Given the description of an element on the screen output the (x, y) to click on. 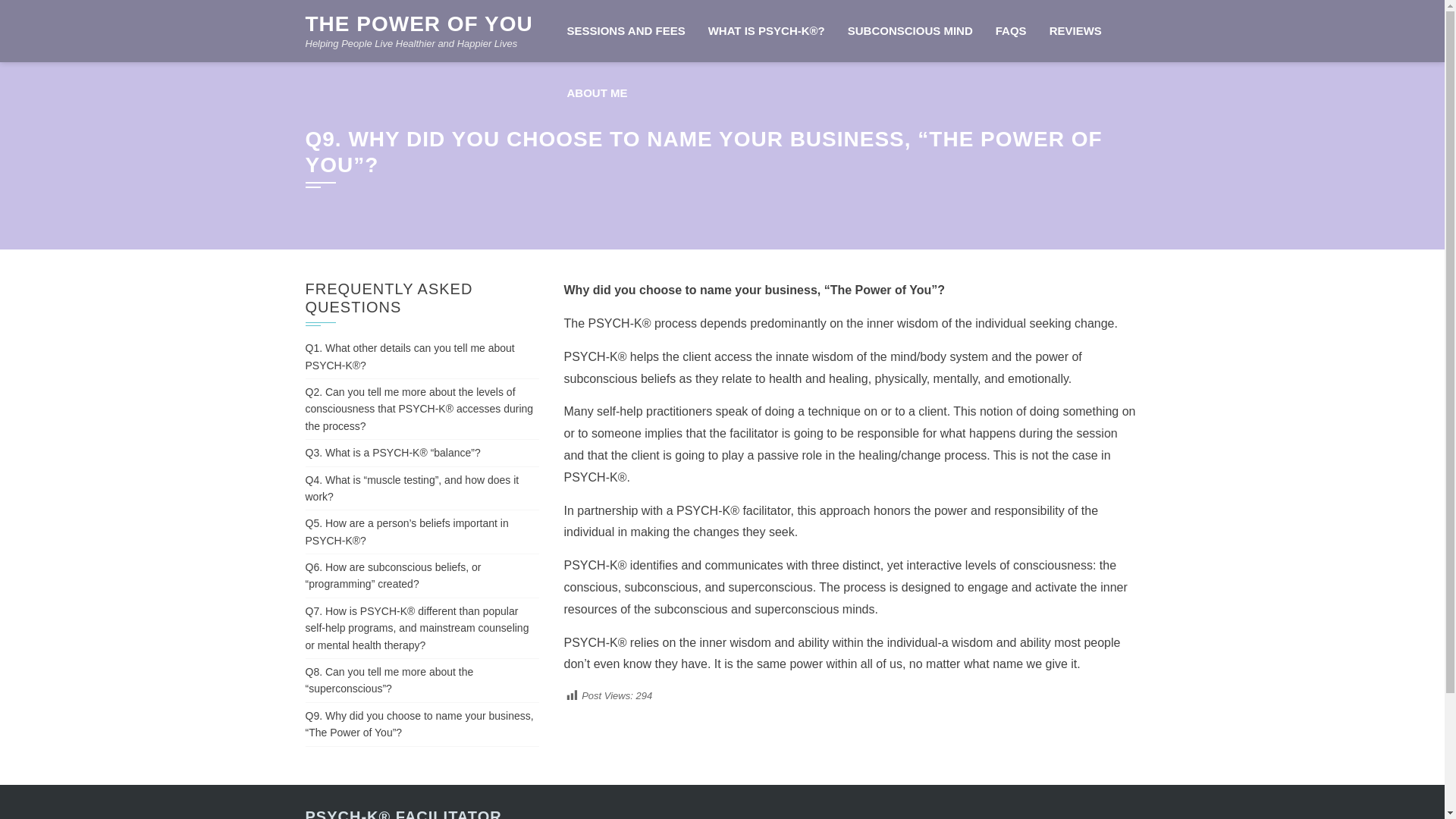
SESSIONS AND FEES (624, 31)
ABOUT ME (596, 93)
SUBCONSCIOUS MIND (909, 31)
REVIEWS (1075, 31)
THE POWER OF YOU (418, 24)
